Given the description of an element on the screen output the (x, y) to click on. 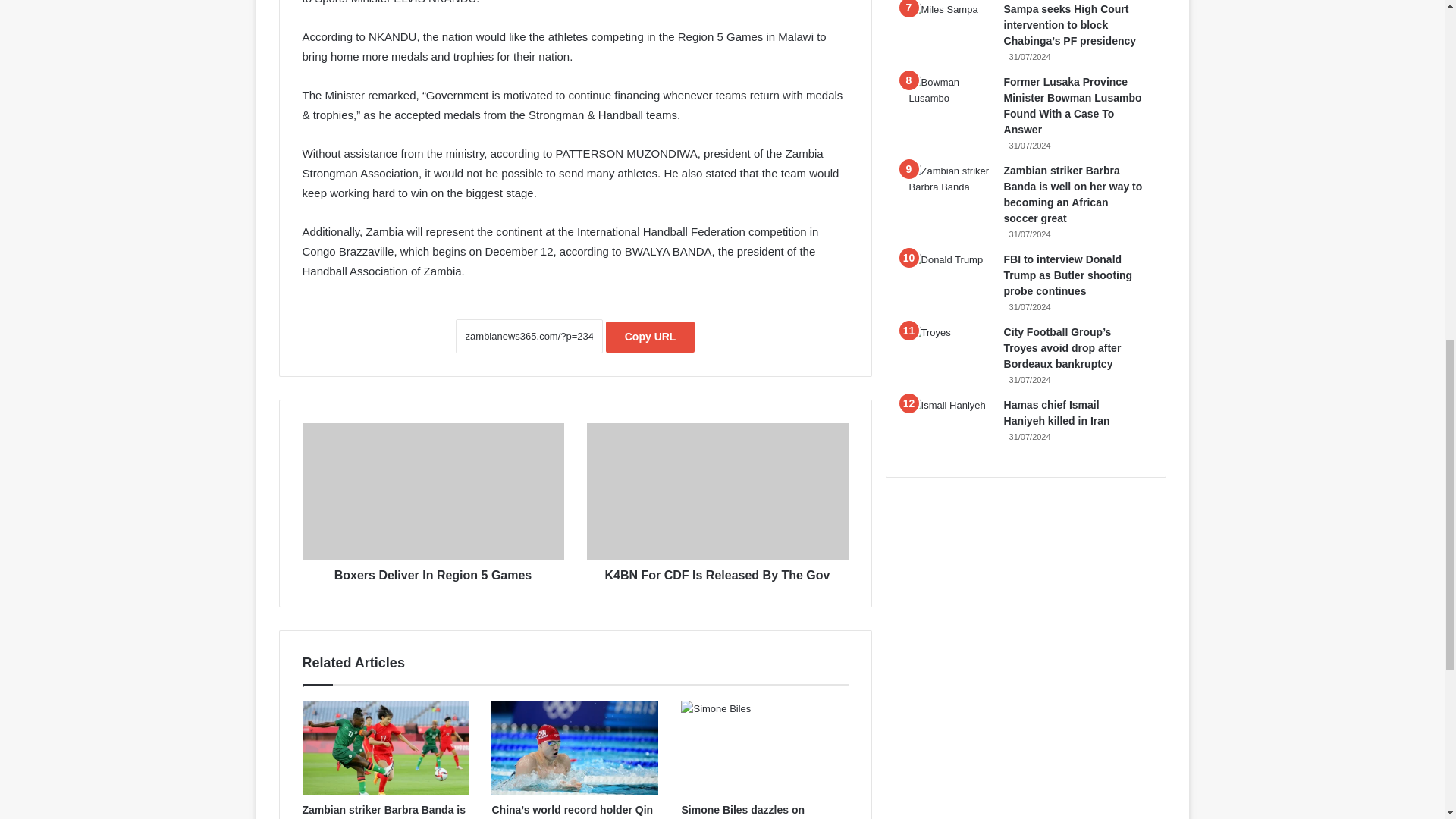
K4BN For CDF Is Released By The Gov (717, 571)
K4BN For CDF Is Released By The Gov (717, 491)
Copy URL (650, 336)
Boxers Deliver In Region 5 Games (432, 491)
Boxers Deliver In Region 5 Games (432, 571)
